Given the description of an element on the screen output the (x, y) to click on. 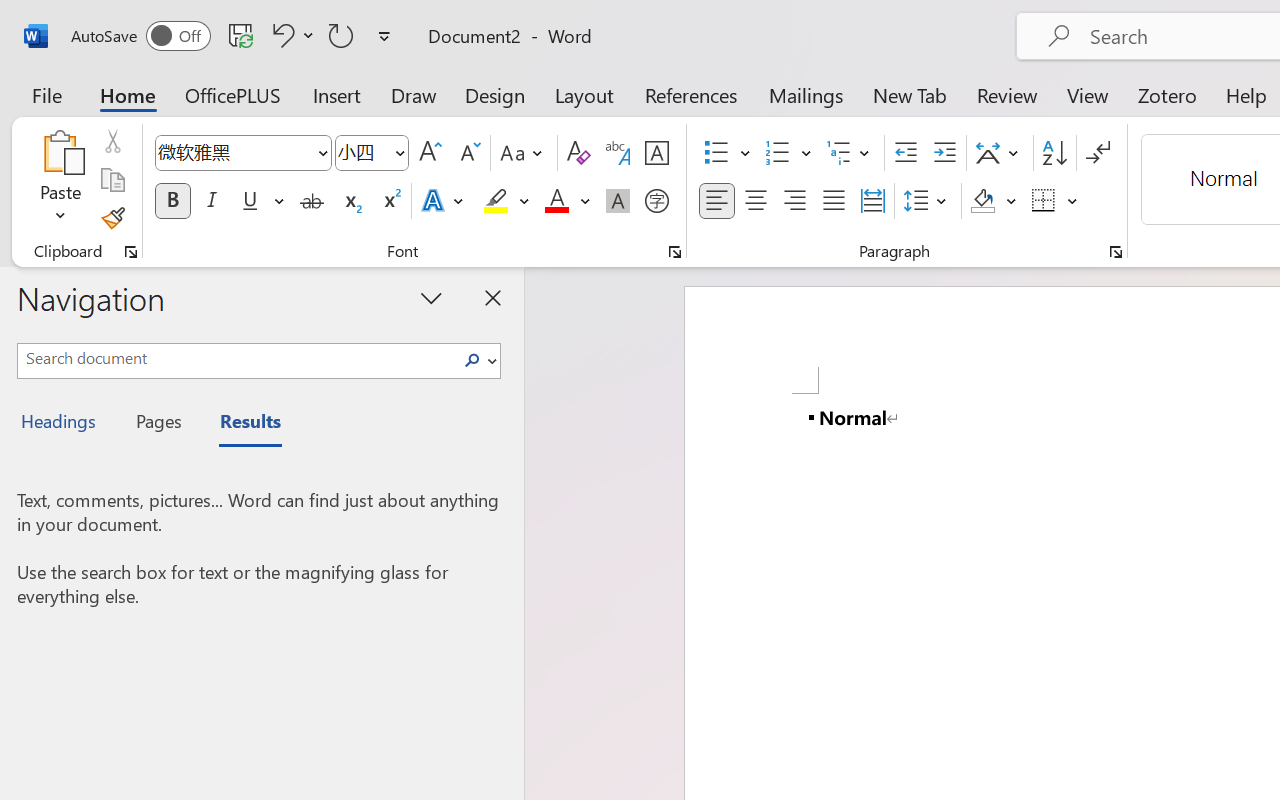
Font... (675, 252)
Shading RGB(0, 0, 0) (982, 201)
AutoSave (140, 35)
Headings (64, 424)
More Options (1073, 201)
Font Size (362, 152)
Decrease Indent (906, 153)
Cut (112, 141)
Bold (172, 201)
Draw (413, 94)
Office Clipboard... (131, 252)
Align Right (794, 201)
Repeat Doc Close (341, 35)
Shrink Font (468, 153)
Review (1007, 94)
